Given the description of an element on the screen output the (x, y) to click on. 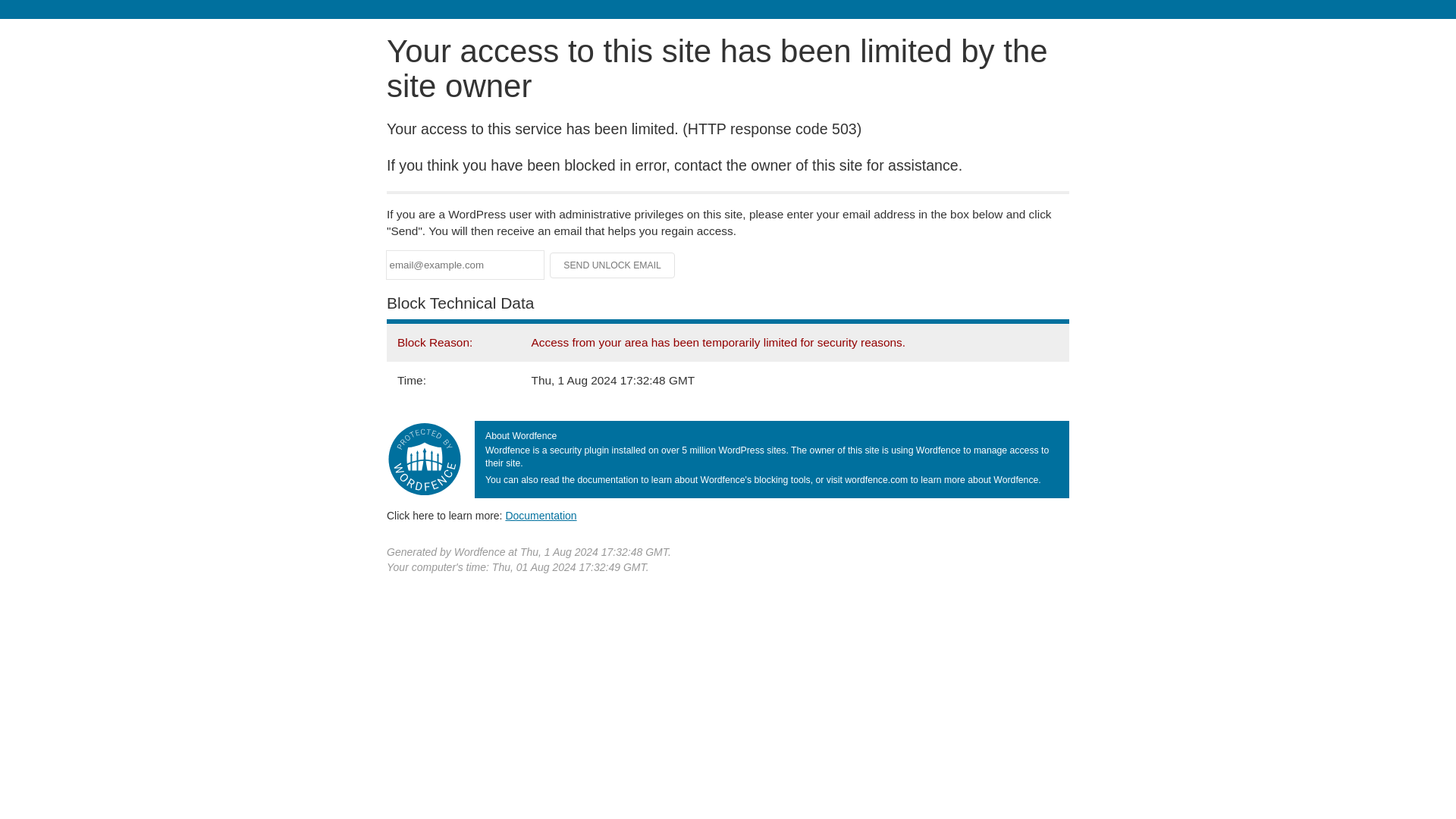
Documentation (540, 515)
Send Unlock Email (612, 265)
Send Unlock Email (612, 265)
